Given the description of an element on the screen output the (x, y) to click on. 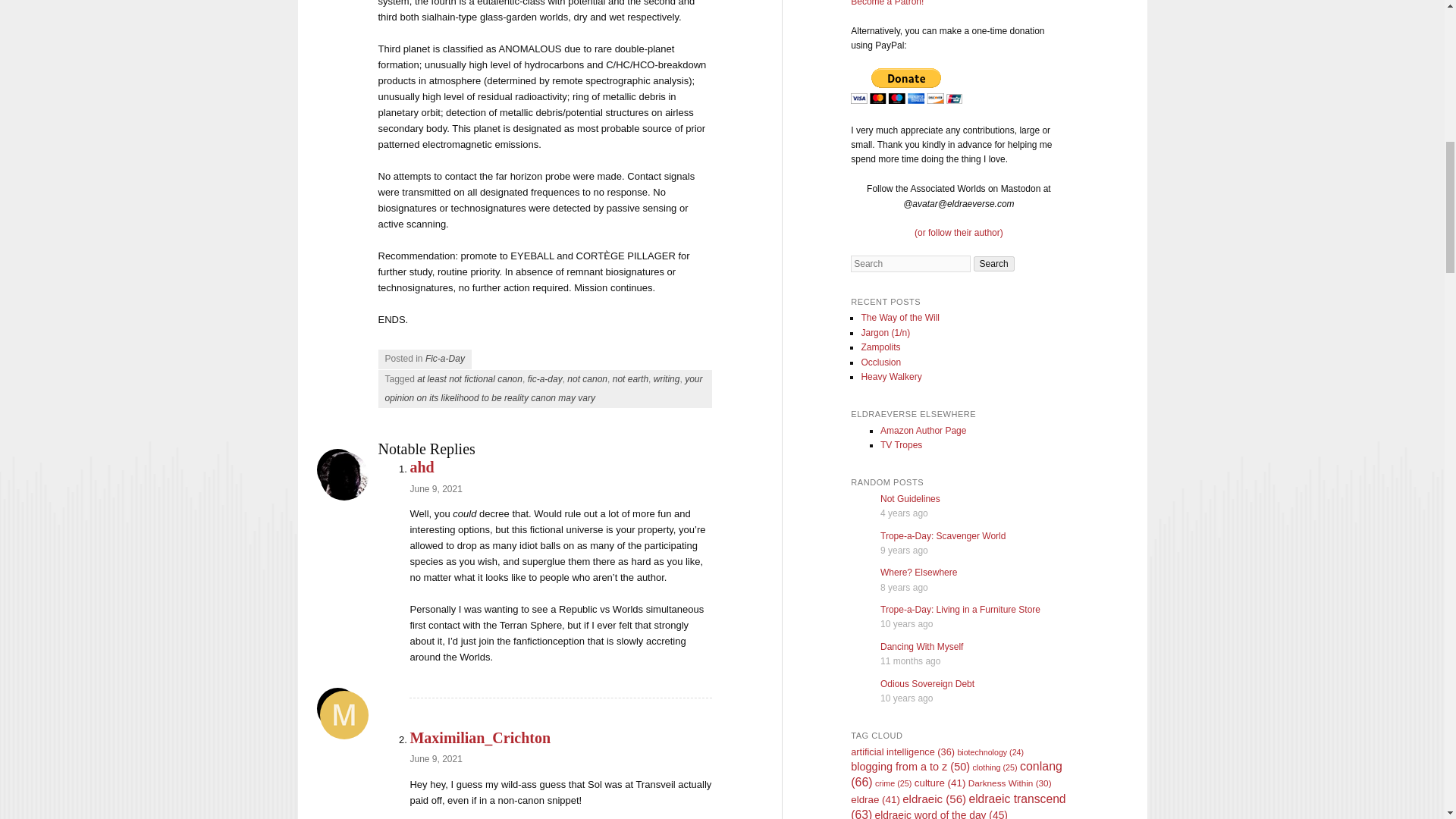
ahd (421, 466)
at least not fictional canon (469, 378)
Search (994, 263)
not earth (629, 378)
not canon (587, 378)
your opinion on its likelihood to be reality canon may vary (544, 388)
fic-a-day (544, 378)
Fic-a-Day (444, 357)
Become a Patron! (886, 3)
writing (666, 378)
